Given the description of an element on the screen output the (x, y) to click on. 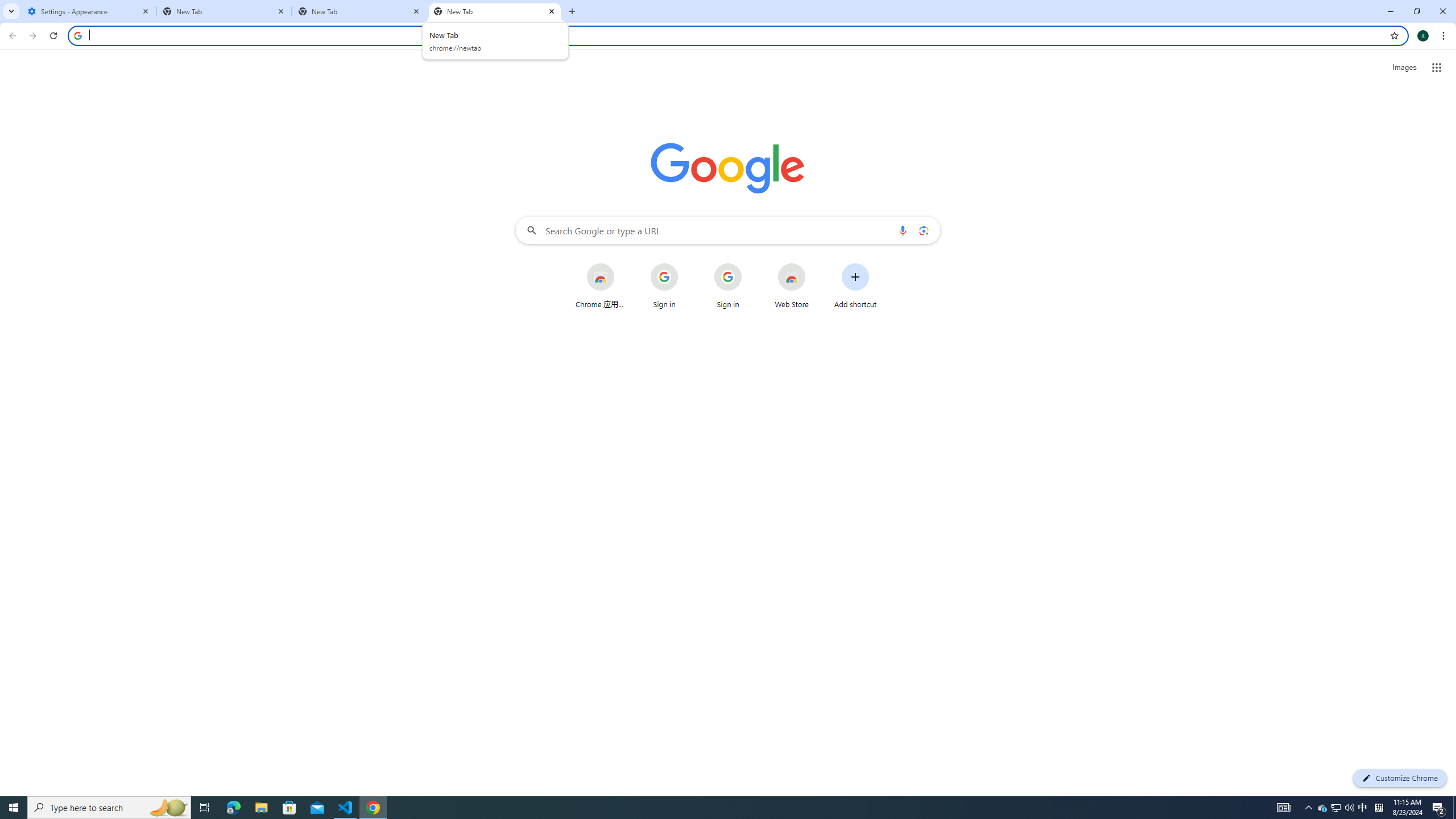
More actions for Sign in shortcut (750, 264)
